Given the description of an element on the screen output the (x, y) to click on. 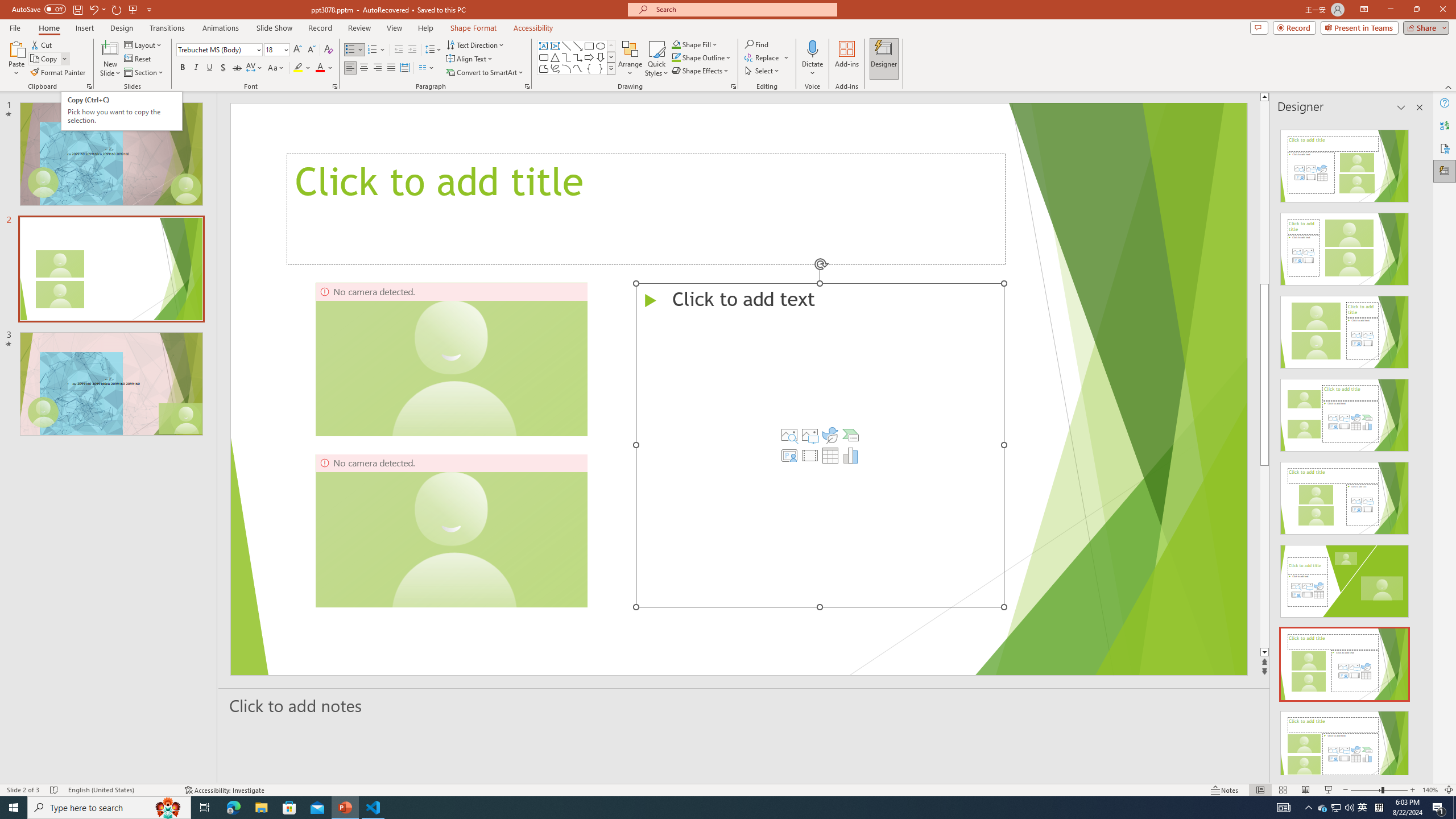
Insert Video (809, 455)
Camera 5, No camera detected. (451, 530)
